Given the description of an element on the screen output the (x, y) to click on. 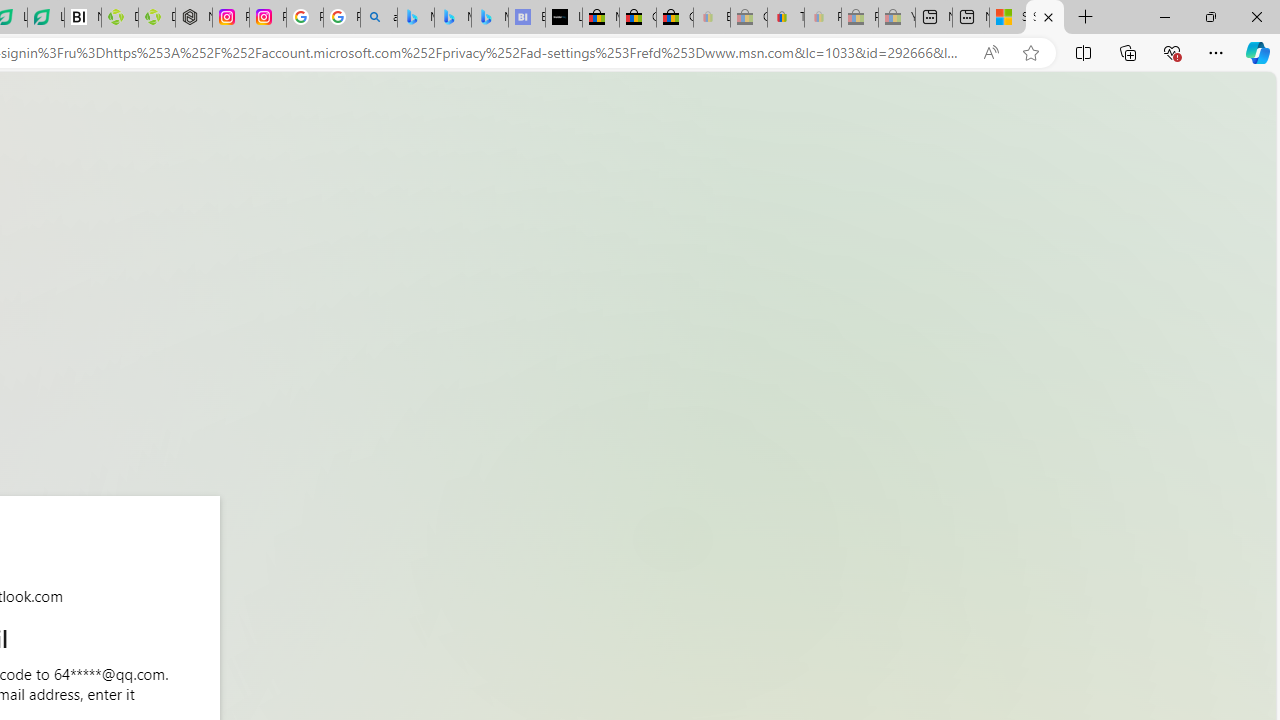
Microsoft Bing Travel - Shangri-La Hotel Bangkok (490, 17)
Microsoft Bing Travel - Flights from Hong Kong to Bangkok (415, 17)
Payments Terms of Use | eBay.com - Sleeping (822, 17)
Yard, Garden & Outdoor Living - Sleeping (897, 17)
Threats and offensive language policy | eBay (785, 17)
LendingTree - Compare Lenders (45, 17)
